Given the description of an element on the screen output the (x, y) to click on. 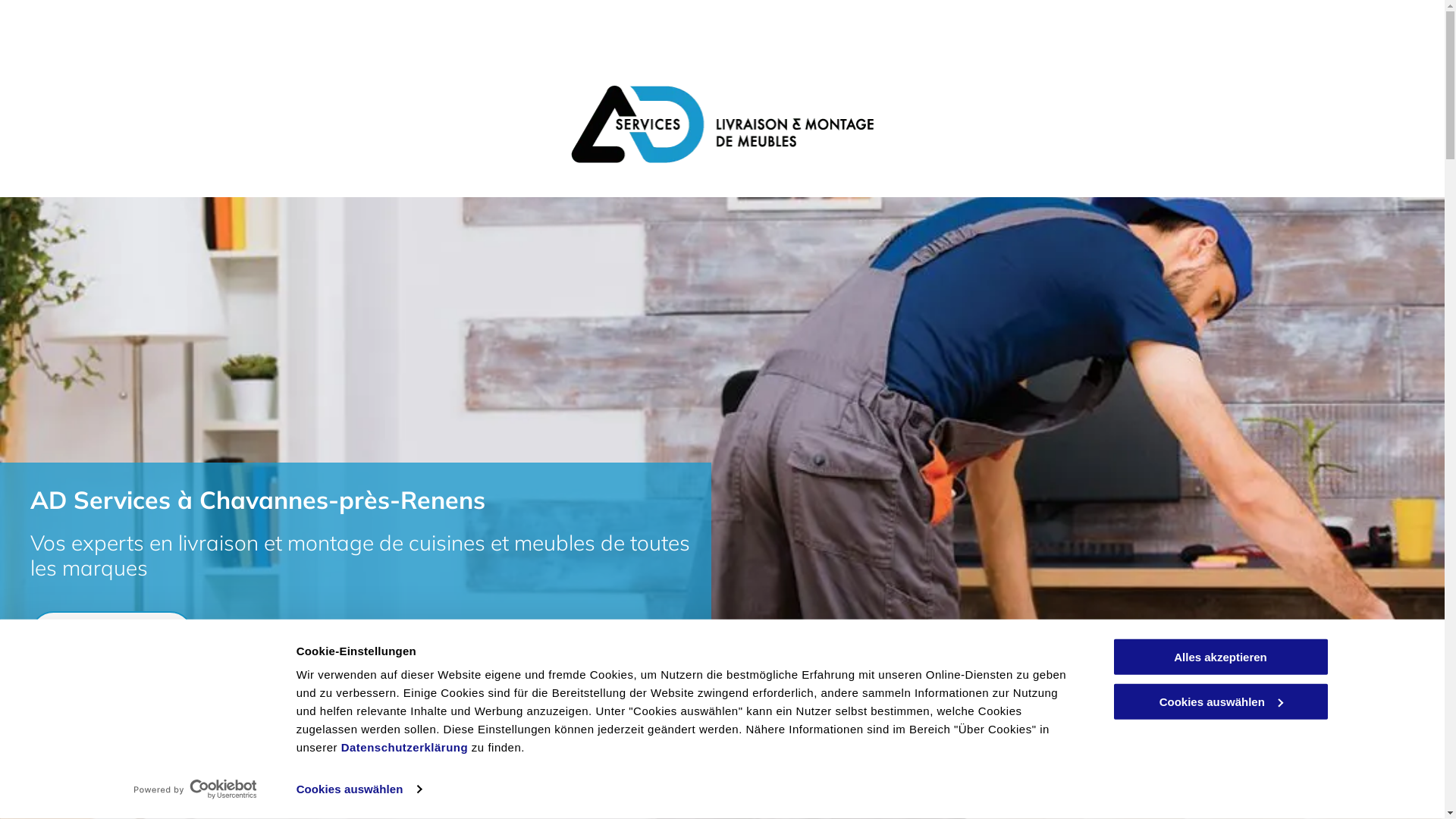
079 176 36 50 Element type: text (111, 634)
info@adservices-sarl.ch Element type: text (128, 695)
Alles akzeptieren Element type: text (1219, 656)
